Given the description of an element on the screen output the (x, y) to click on. 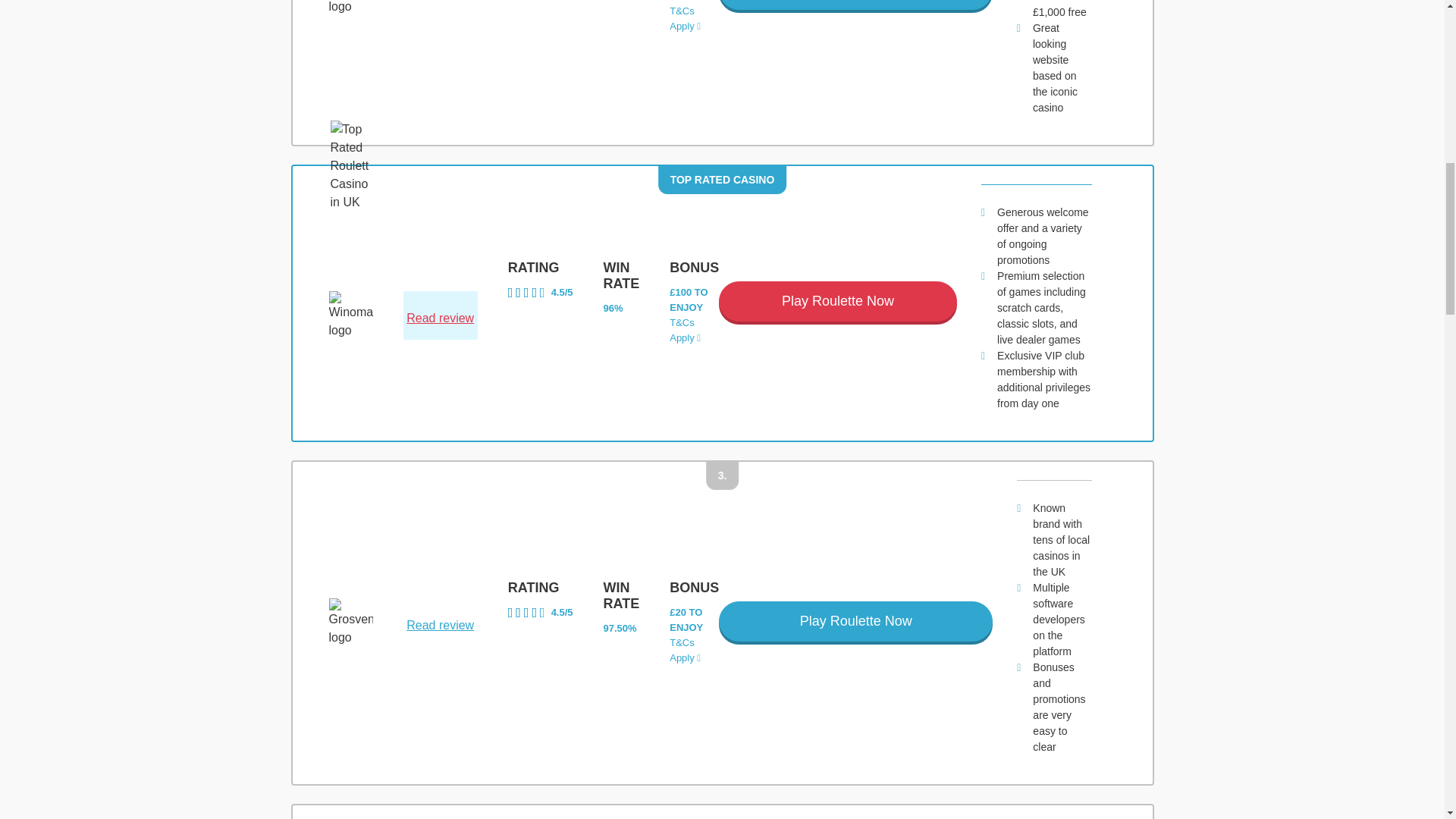
Read our review about Winomania (540, 292)
Hippodrome logo (350, 7)
Read our review about Grosvenor (440, 625)
Winomania logo (350, 315)
Visit Hippodrome (855, 4)
Grosvenor logo (350, 622)
Read our review about Winomania (440, 318)
Top Rated Roulette Casino in UK (349, 165)
Read our review about Hippodrome (440, 2)
Read our review about Grosvenor (540, 612)
Visit Grosvenor (855, 621)
Visit Winomania (837, 301)
